Given the description of an element on the screen output the (x, y) to click on. 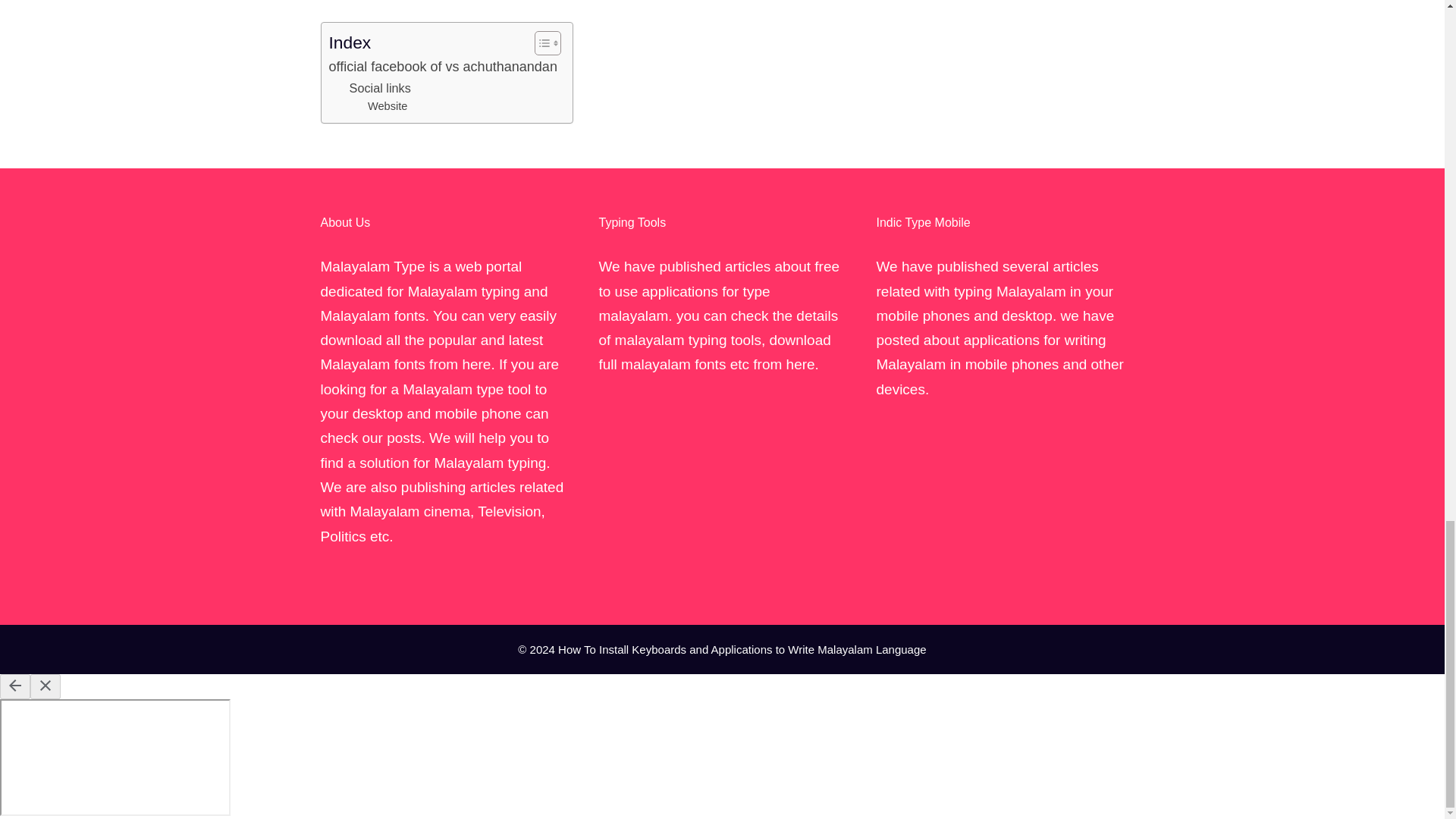
Social links (379, 87)
Website (387, 106)
official facebook of vs achuthanandan (443, 66)
